Given the description of an element on the screen output the (x, y) to click on. 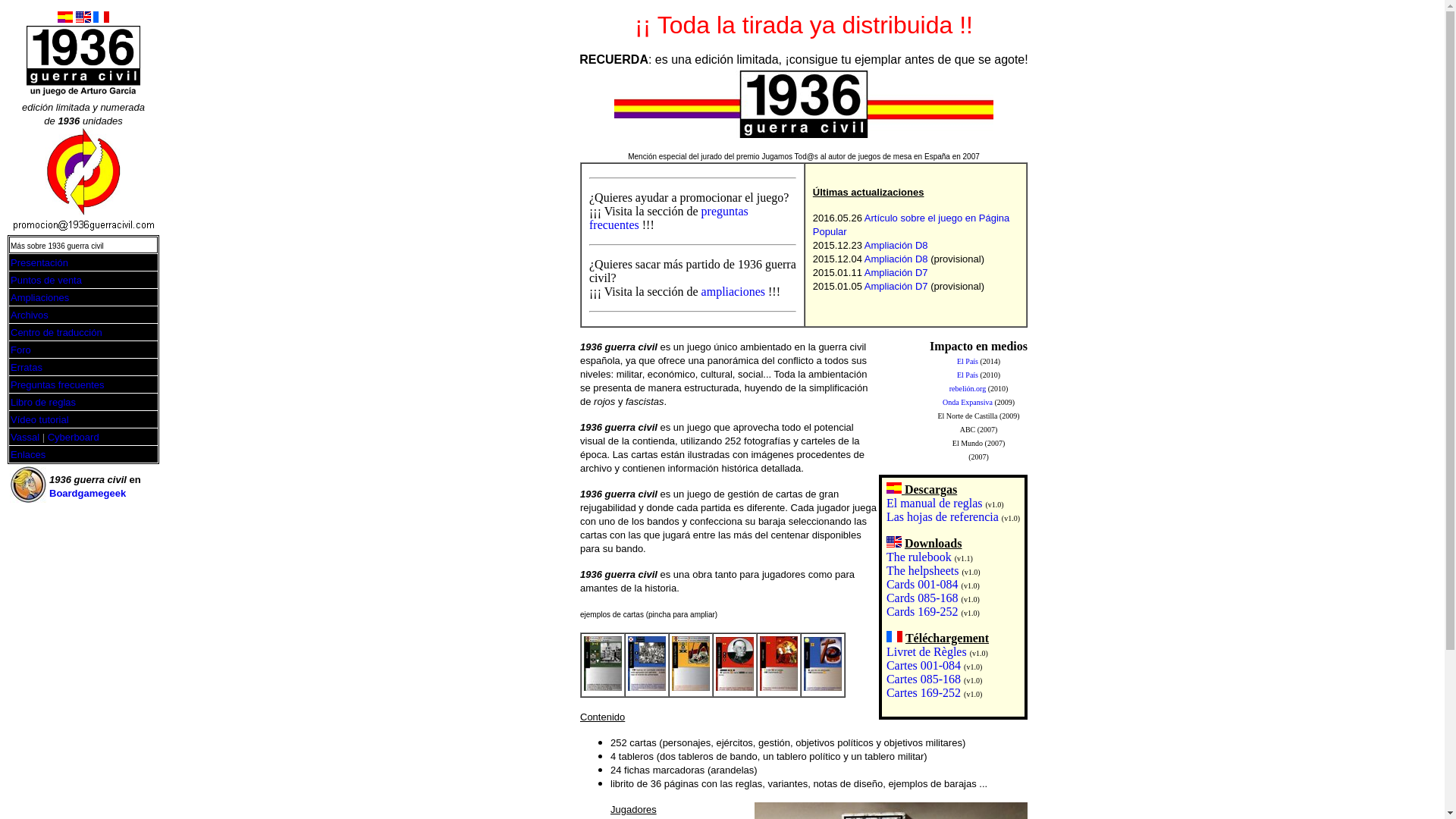
Enlaces Element type: text (27, 453)
Cards 001-084 Element type: text (922, 583)
Vassal Element type: text (24, 436)
Las hojas de referencia Element type: text (942, 516)
Foro Element type: text (20, 348)
preguntas frecuentes Element type: text (668, 217)
Cyberboard Element type: text (73, 436)
Cards 169-252 Element type: text (922, 611)
Cartes 085-168 Element type: text (923, 678)
Cards 085-168 Element type: text (922, 597)
Cartes 001-084 Element type: text (923, 664)
Libro de reglas Element type: text (42, 401)
Boardgamegeek Element type: text (87, 492)
ampliaciones Element type: text (733, 291)
Ampliaciones Element type: text (39, 296)
Cartes 169-252 Element type: text (923, 692)
The helpsheets Element type: text (922, 570)
El manual de reglas Element type: text (934, 502)
Onda Expansiva Element type: text (967, 402)
Archivos Element type: text (29, 313)
Puntos de venta Element type: text (45, 279)
Preguntas frecuentes Element type: text (57, 383)
Erratas Element type: text (26, 366)
The rulebook Element type: text (918, 556)
